Given the description of an element on the screen output the (x, y) to click on. 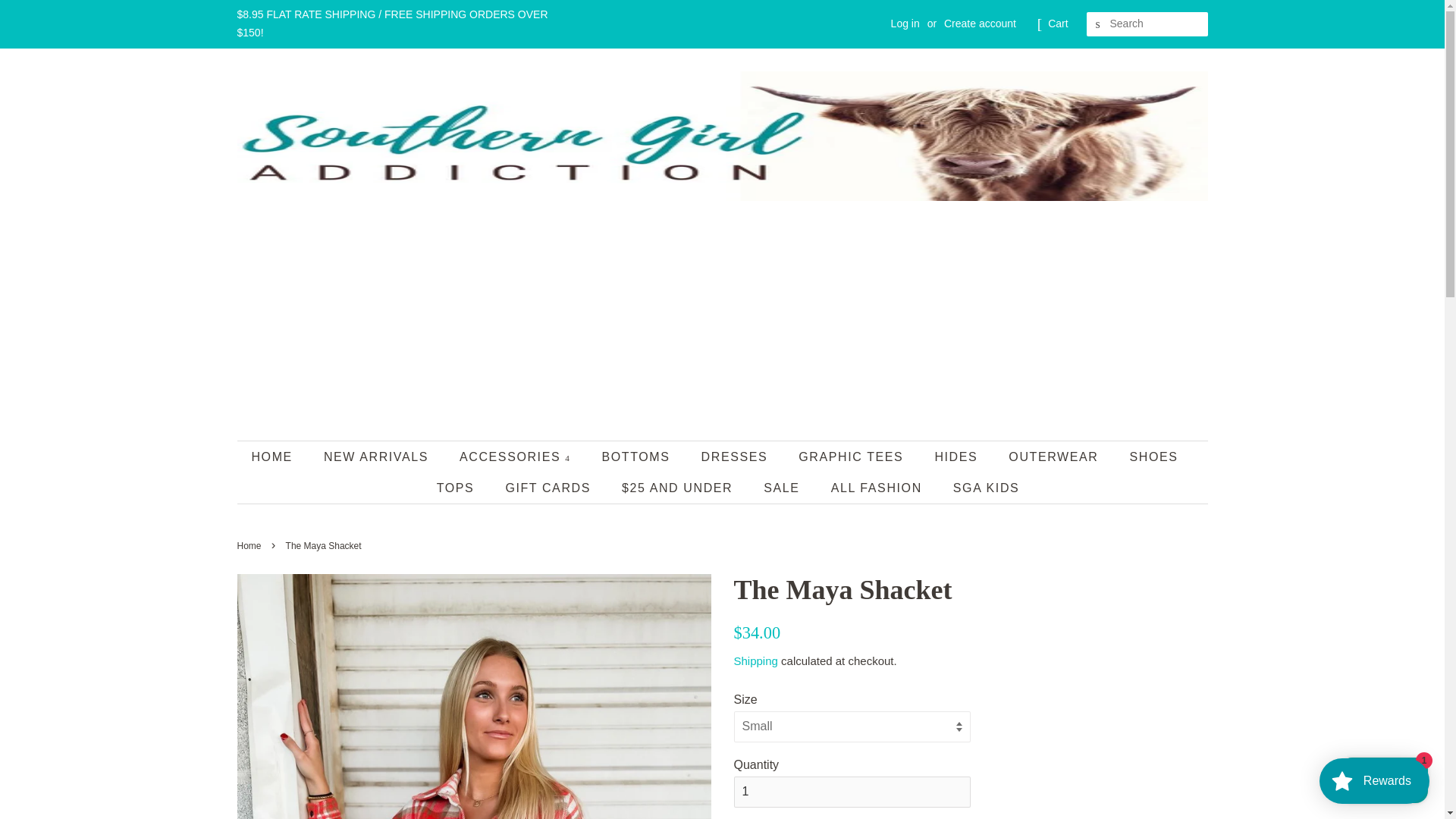
Create account (979, 23)
SEARCH (1097, 24)
Cart (1057, 24)
NEW ARRIVALS (378, 456)
BOTTOMS (636, 456)
HOME (278, 456)
ACCESSORIES (516, 456)
DRESSES (736, 456)
Back to the frontpage (249, 545)
Shopify online store chat (1383, 781)
Log in (905, 23)
1 (852, 791)
